Given the description of an element on the screen output the (x, y) to click on. 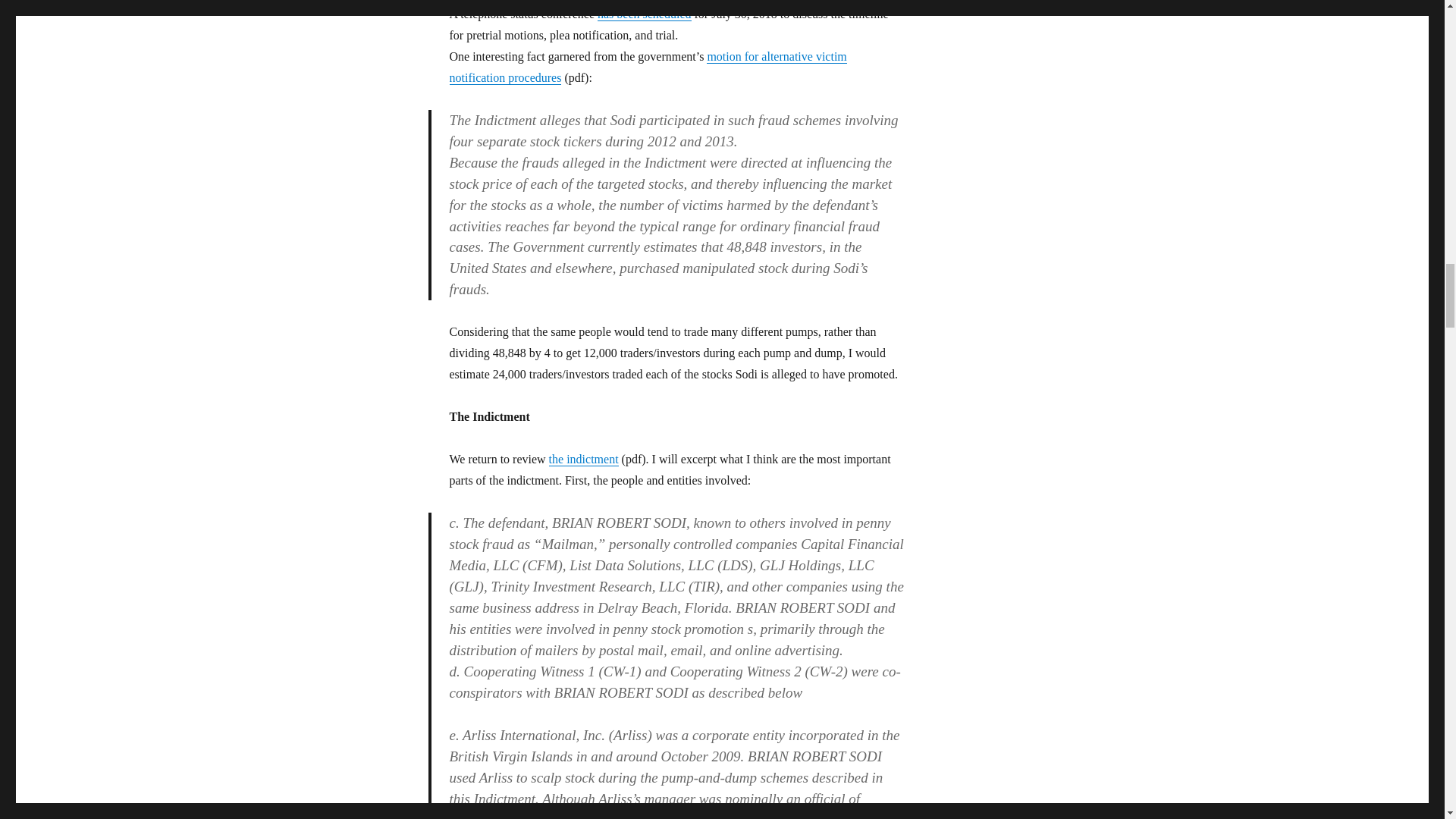
the indictment (583, 459)
motion for alternative victim notification procedures (646, 66)
has been scheduled (643, 13)
